Given the description of an element on the screen output the (x, y) to click on. 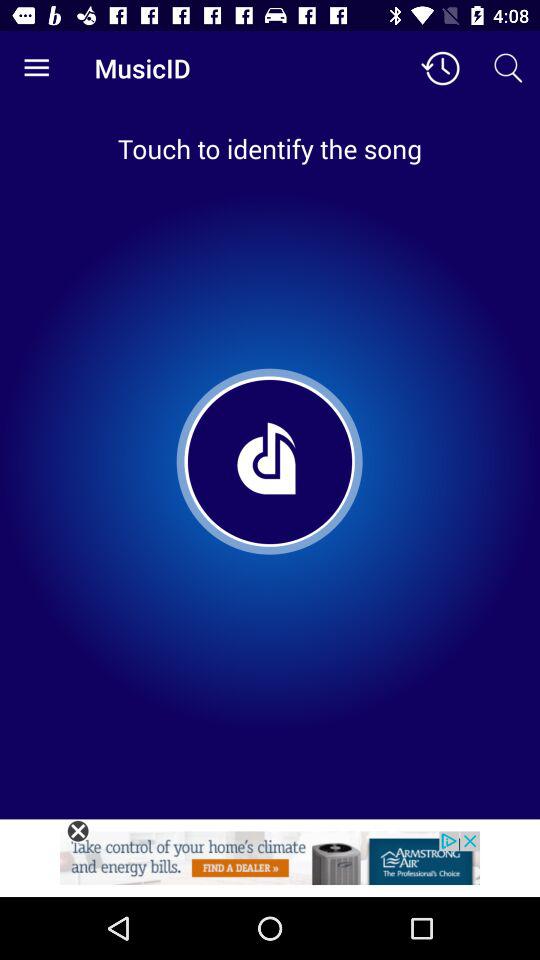
click to close option (78, 831)
